Given the description of an element on the screen output the (x, y) to click on. 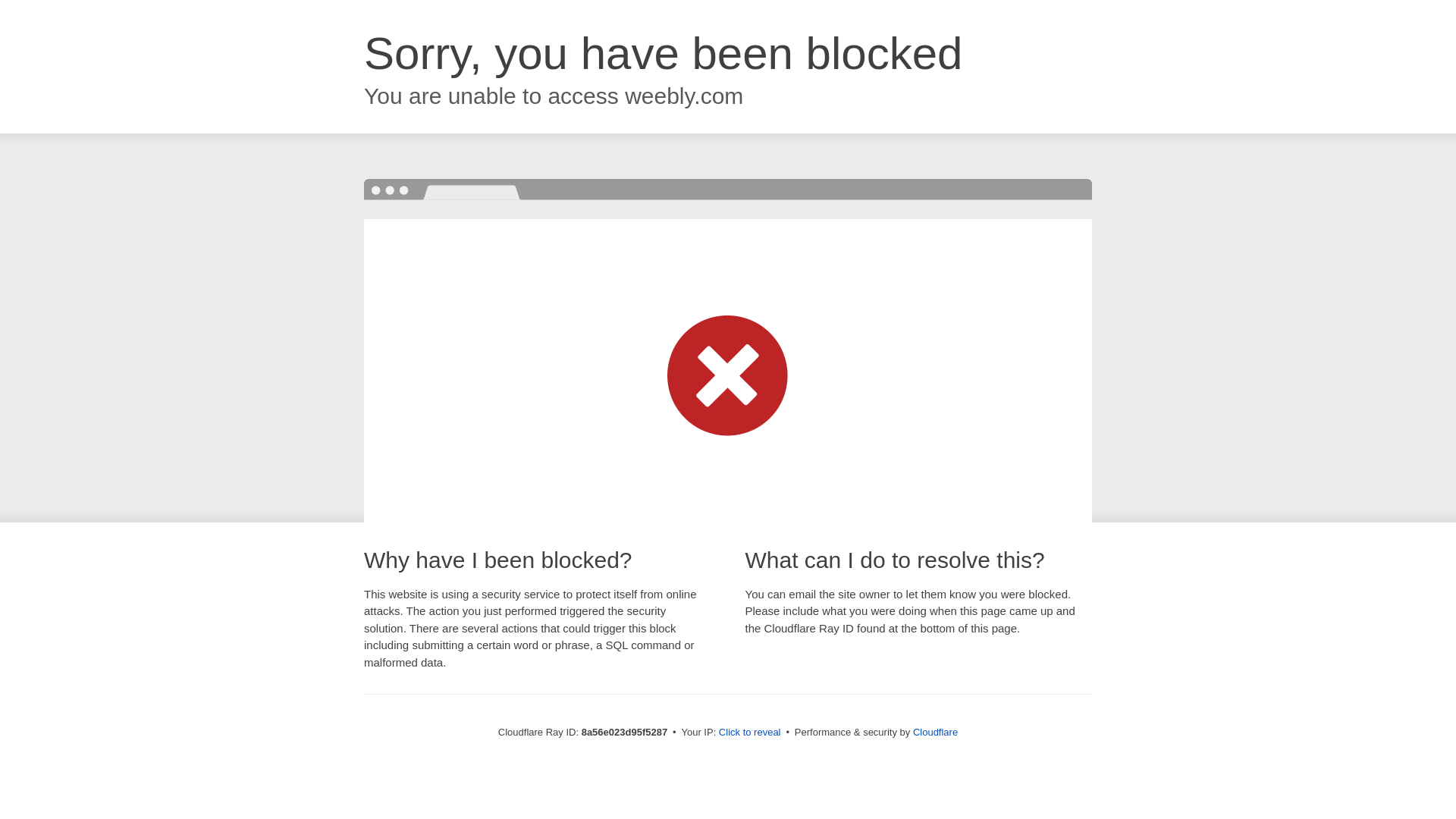
Click to reveal (749, 732)
Cloudflare (935, 731)
